Given the description of an element on the screen output the (x, y) to click on. 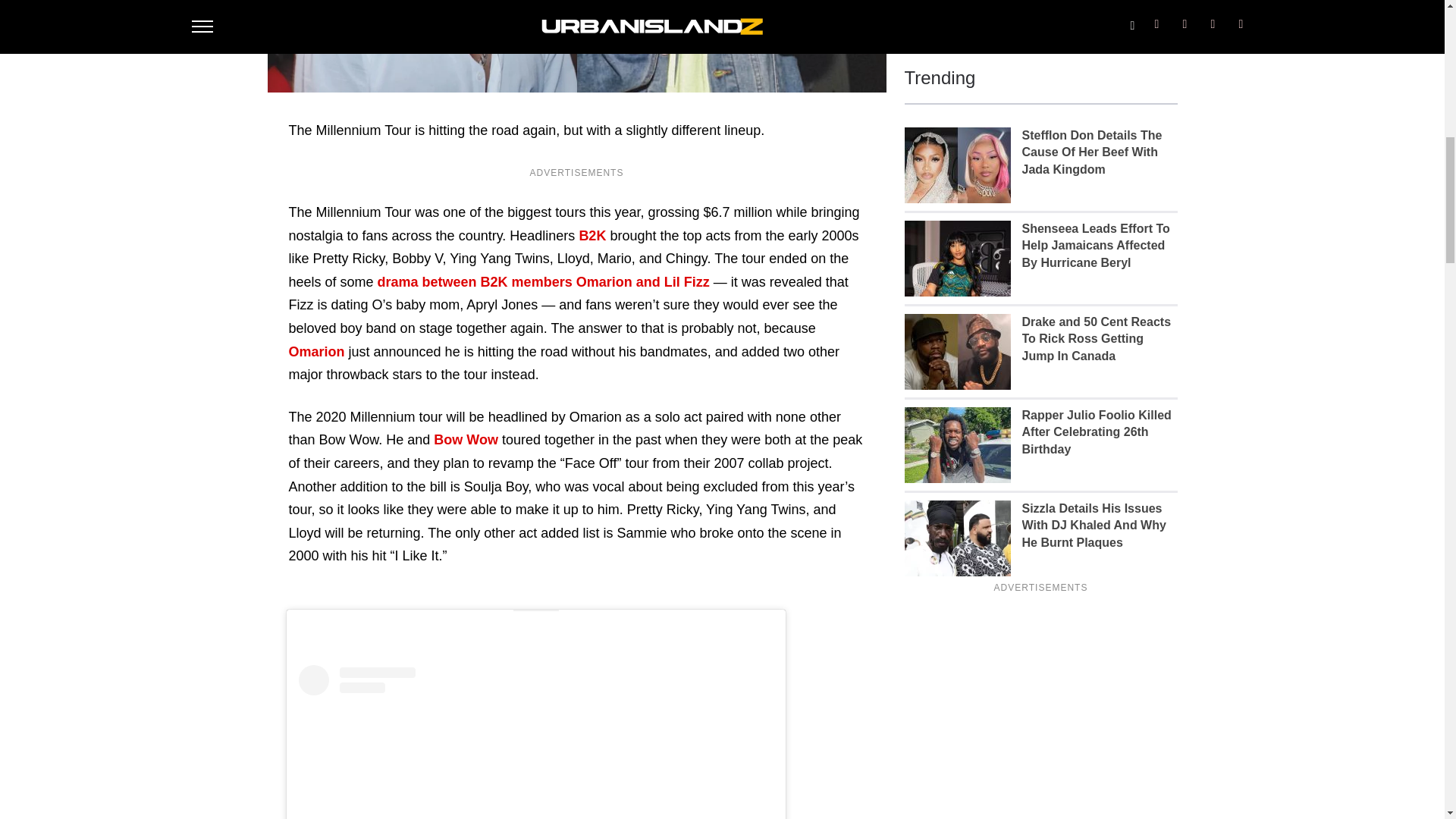
Advertisement (1039, 13)
